Given the description of an element on the screen output the (x, y) to click on. 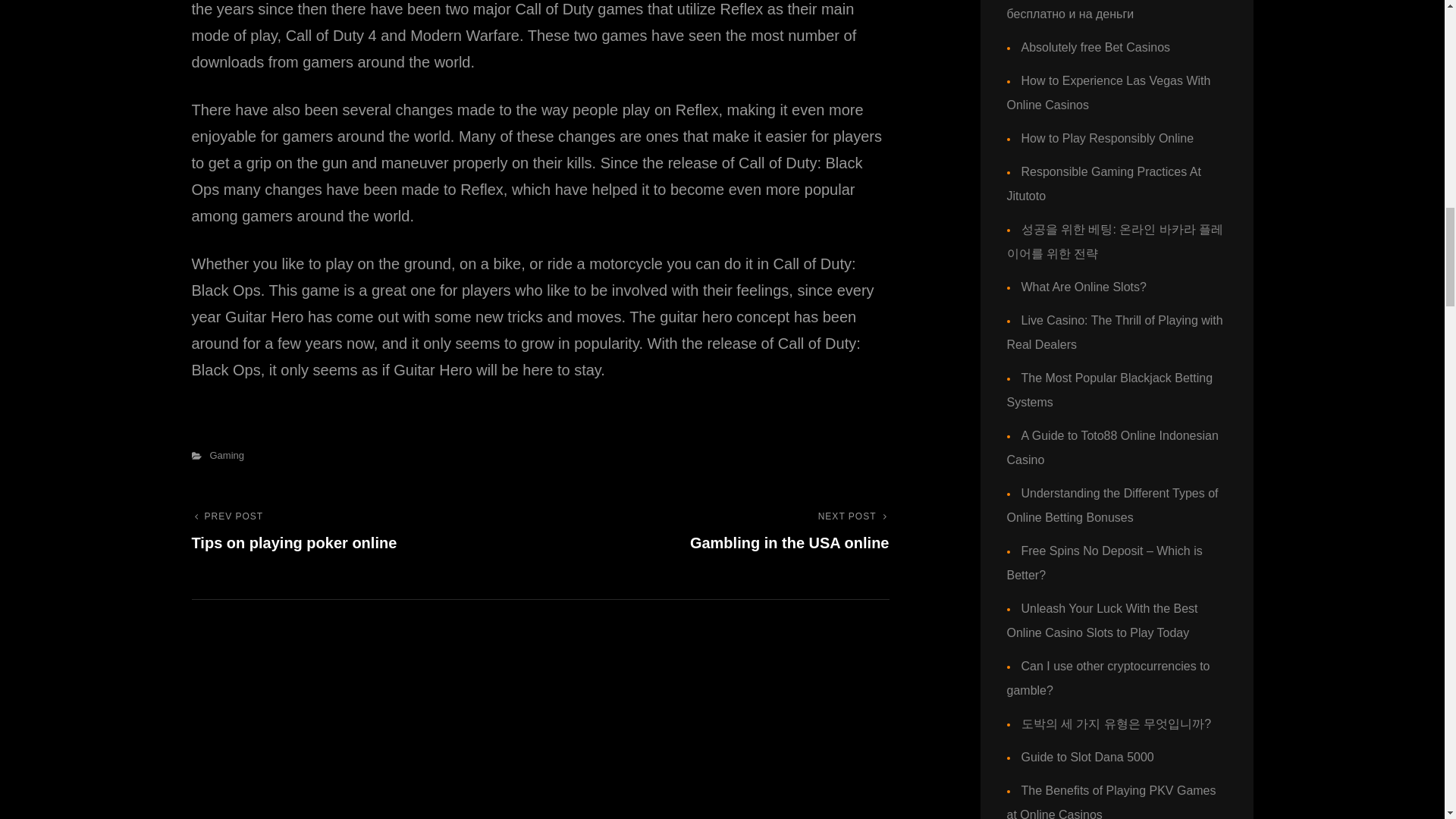
Gaming (226, 455)
